Given the description of an element on the screen output the (x, y) to click on. 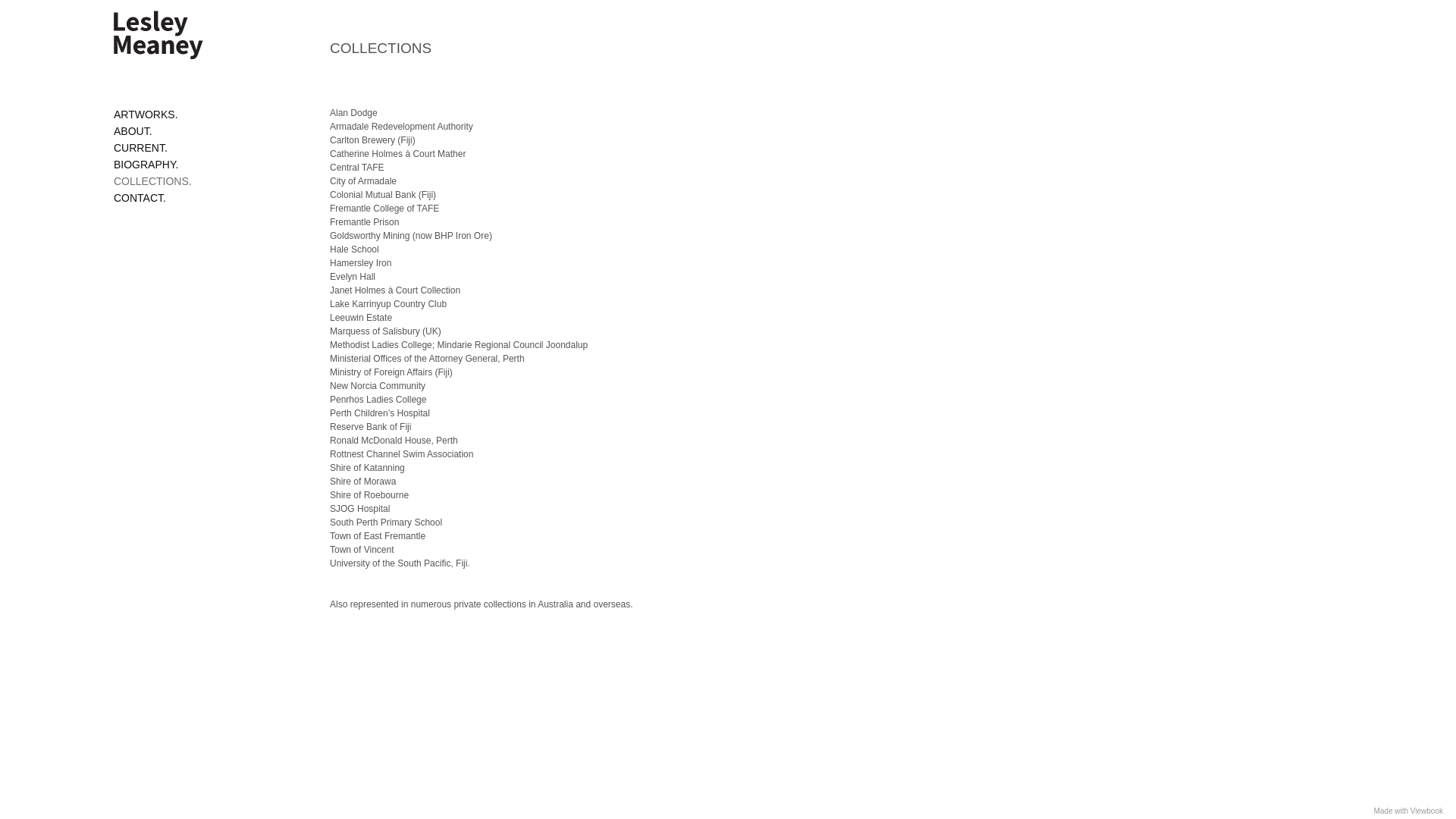
BIOGRAPHY. Element type: text (145, 164)
Made with Viewbook Element type: text (1408, 810)
CONTACT. Element type: text (139, 197)
ARTWORKS. Element type: text (145, 114)
ABOUT. Element type: text (132, 131)
CURRENT. Element type: text (140, 147)
COLLECTIONS. Element type: text (152, 181)
